Given the description of an element on the screen output the (x, y) to click on. 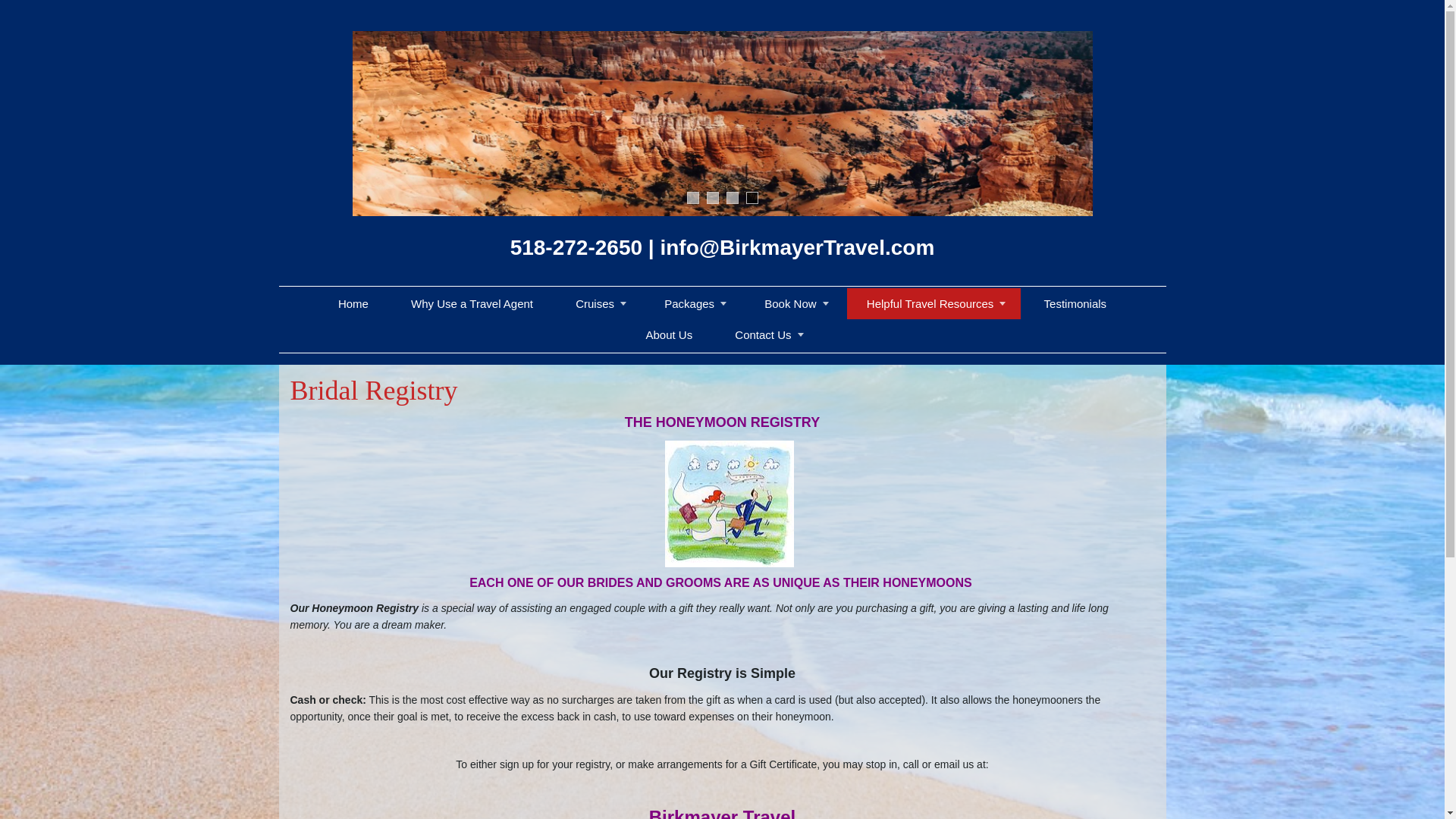
Cruises (594, 304)
Home (353, 304)
Packages (689, 304)
Why Use a Travel Agent (472, 304)
